Given the description of an element on the screen output the (x, y) to click on. 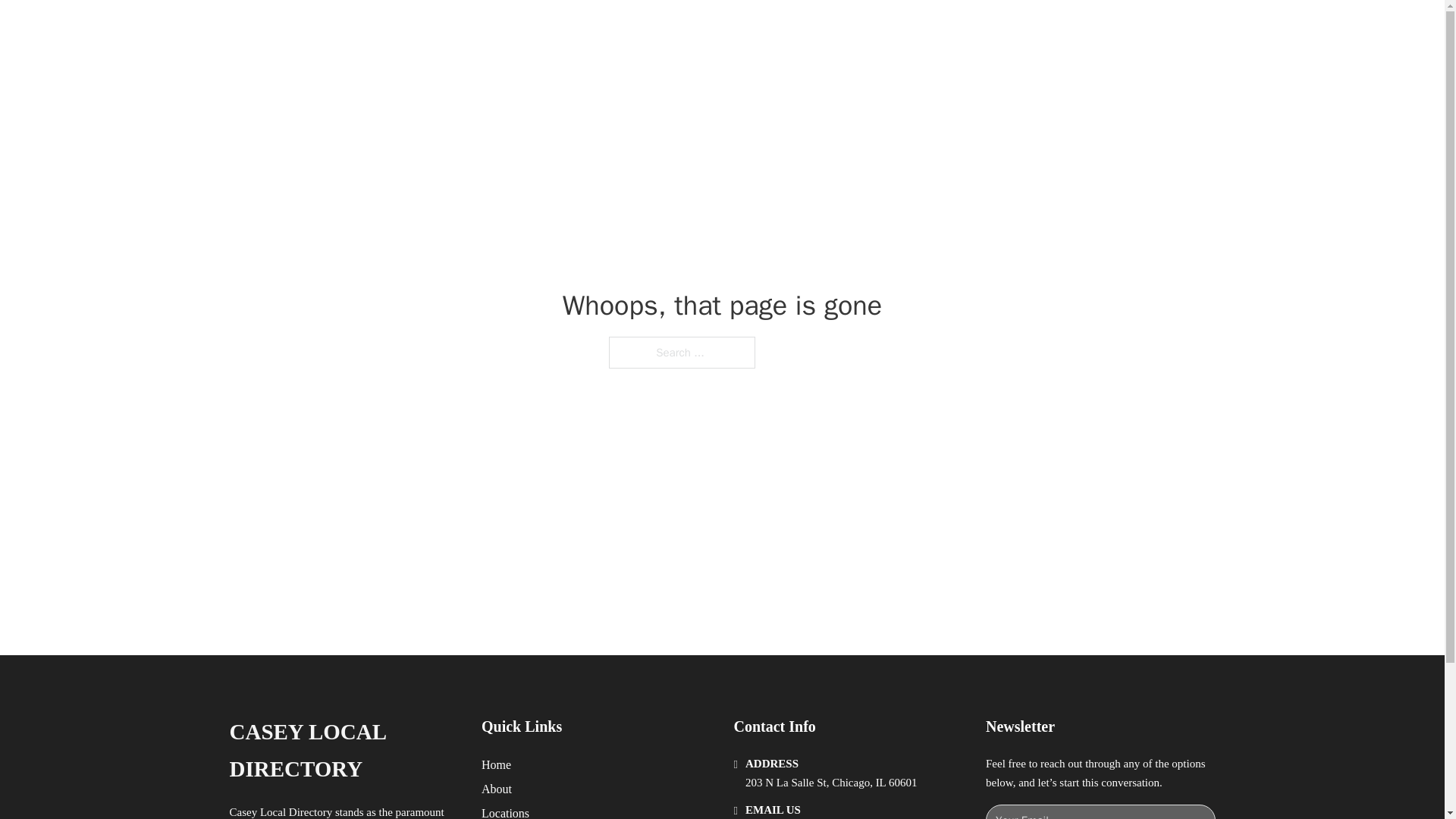
CASEY LOCAL DIRECTORY (343, 750)
About (496, 788)
LOCATIONS (990, 29)
Home (496, 764)
CASEY LOCAL DIRECTORY (436, 28)
HOME (919, 29)
Locations (505, 811)
